Given the description of an element on the screen output the (x, y) to click on. 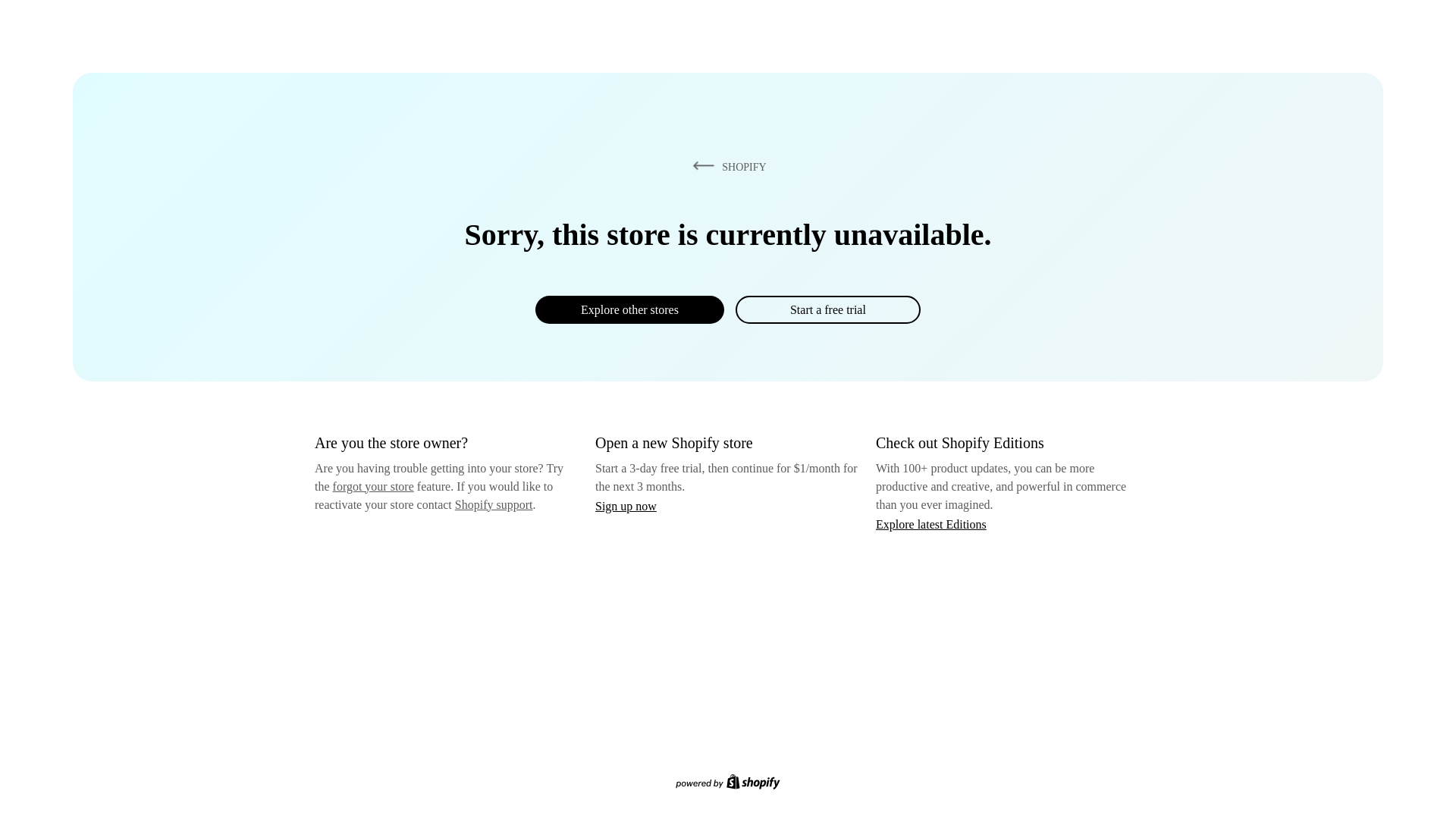
Sign up now (625, 505)
forgot your store (373, 486)
Explore latest Editions (931, 523)
SHOPIFY (726, 166)
Explore other stores (629, 309)
Start a free trial (827, 309)
Shopify support (493, 504)
